Given the description of an element on the screen output the (x, y) to click on. 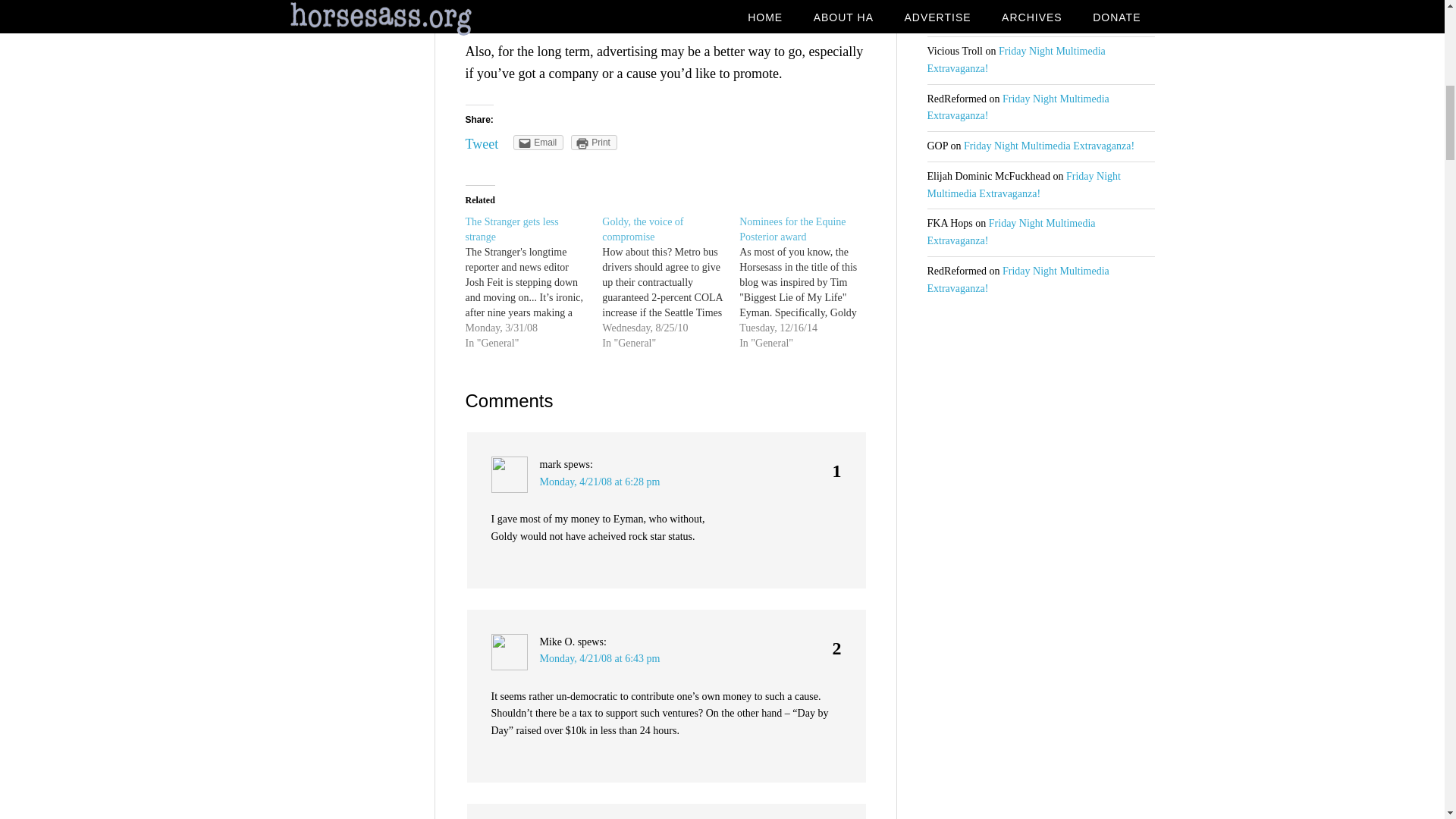
Goldy, the voice of compromise (642, 229)
Nominees for the Equine Posterior award (792, 229)
The Stranger gets less strange (533, 282)
Click to email a link to a friend (538, 142)
Goldy, the voice of compromise (670, 282)
Nominees for the Equine Posterior award (807, 282)
Email (538, 142)
Print (593, 142)
Tweet (482, 143)
Click to print (593, 142)
